Given the description of an element on the screen output the (x, y) to click on. 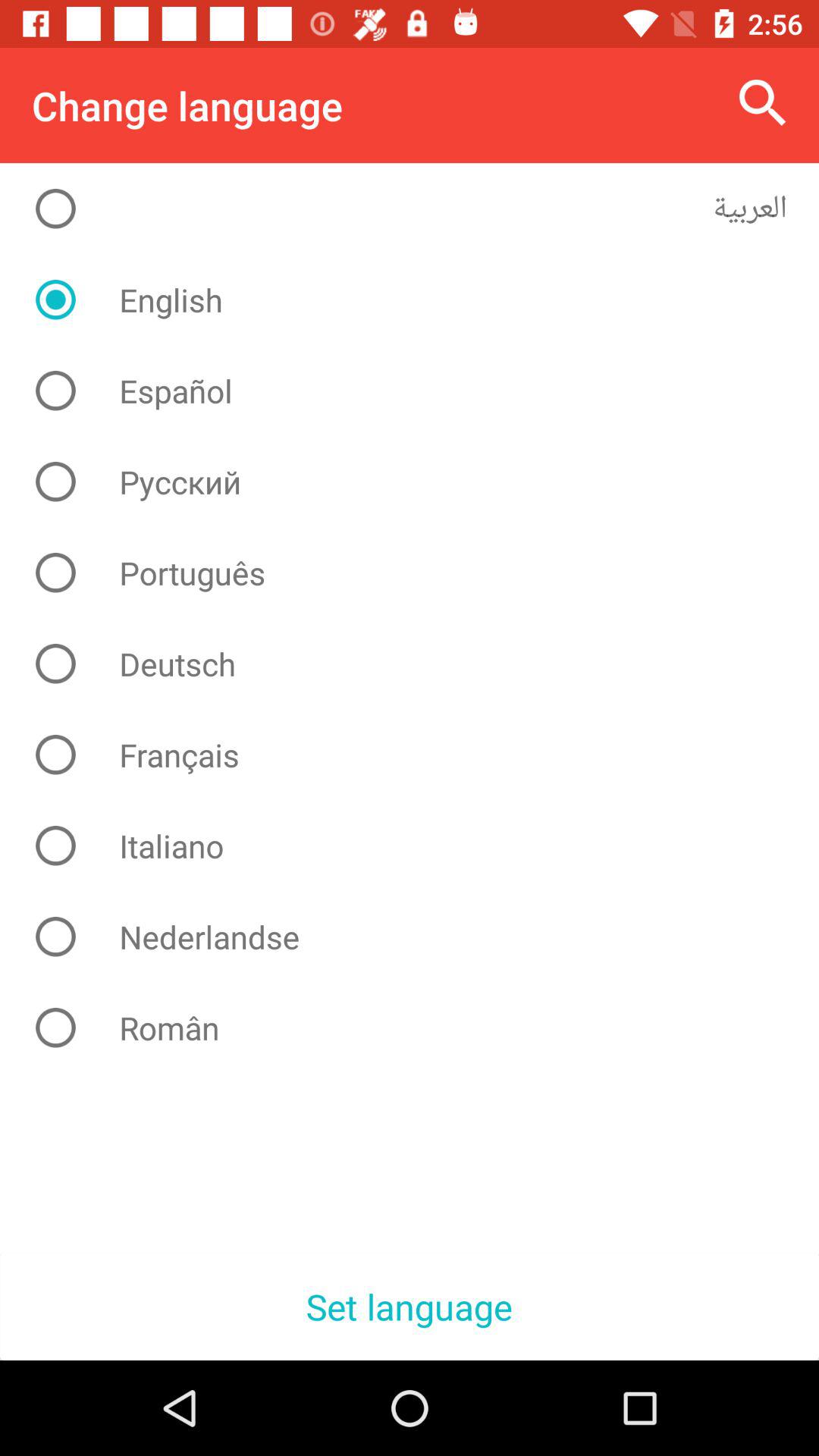
open item above set language (421, 1027)
